Given the description of an element on the screen output the (x, y) to click on. 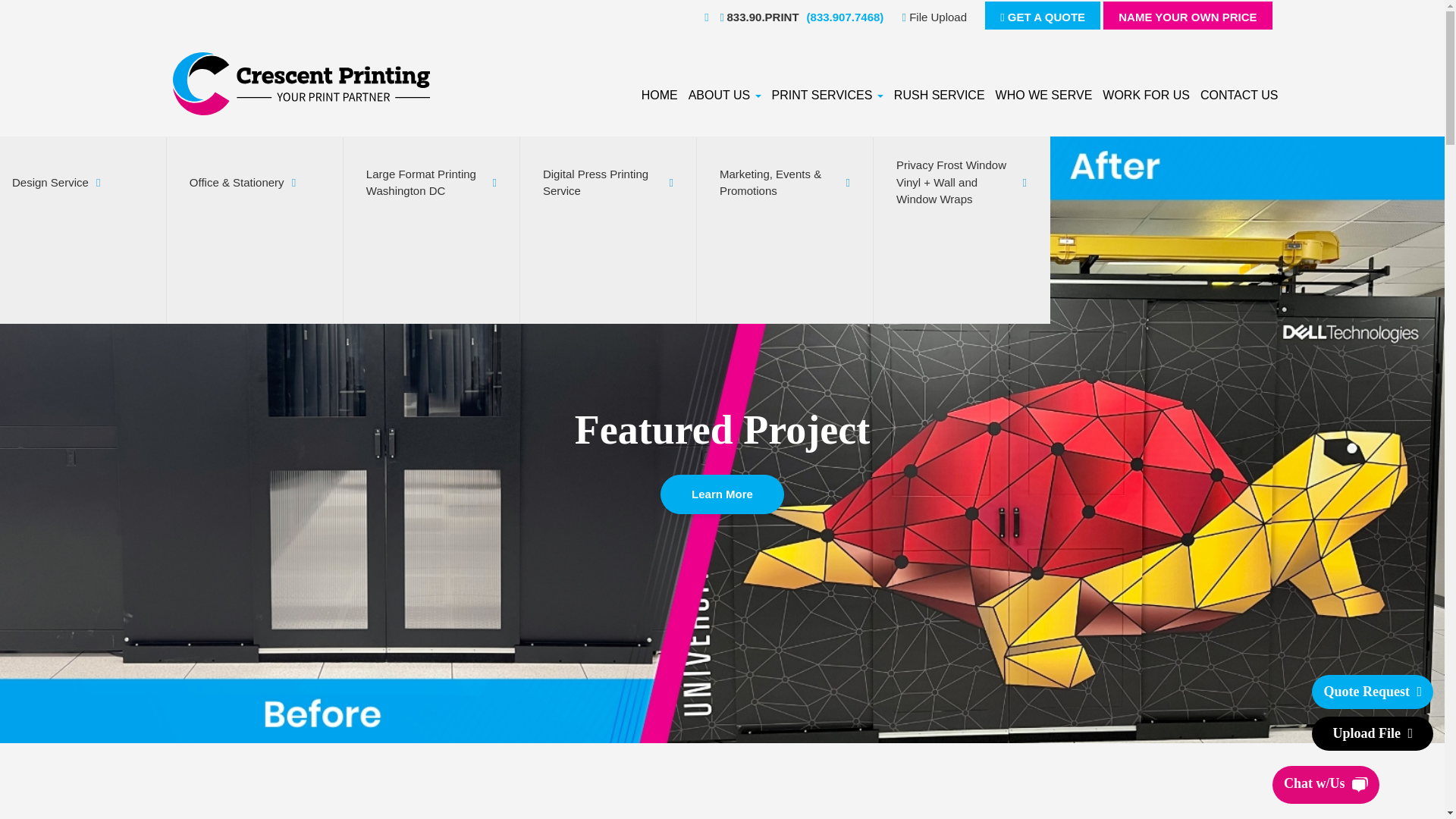
File Upload (934, 16)
WHO WE SERVE (1043, 95)
WORK FOR US (1146, 95)
ABOUT US (724, 95)
CONTACT US (1239, 95)
GET A QUOTE (1042, 15)
NAME YOUR OWN PRICE (1187, 15)
Design Service (76, 232)
Quote Request (1371, 691)
Digital Press Printing Service (607, 232)
Large Format Printing Washington DC (431, 232)
833.90.PRINT (755, 16)
RUSH SERVICE (939, 95)
PRINT SERVICES (827, 95)
Upload File (1371, 733)
